Given the description of an element on the screen output the (x, y) to click on. 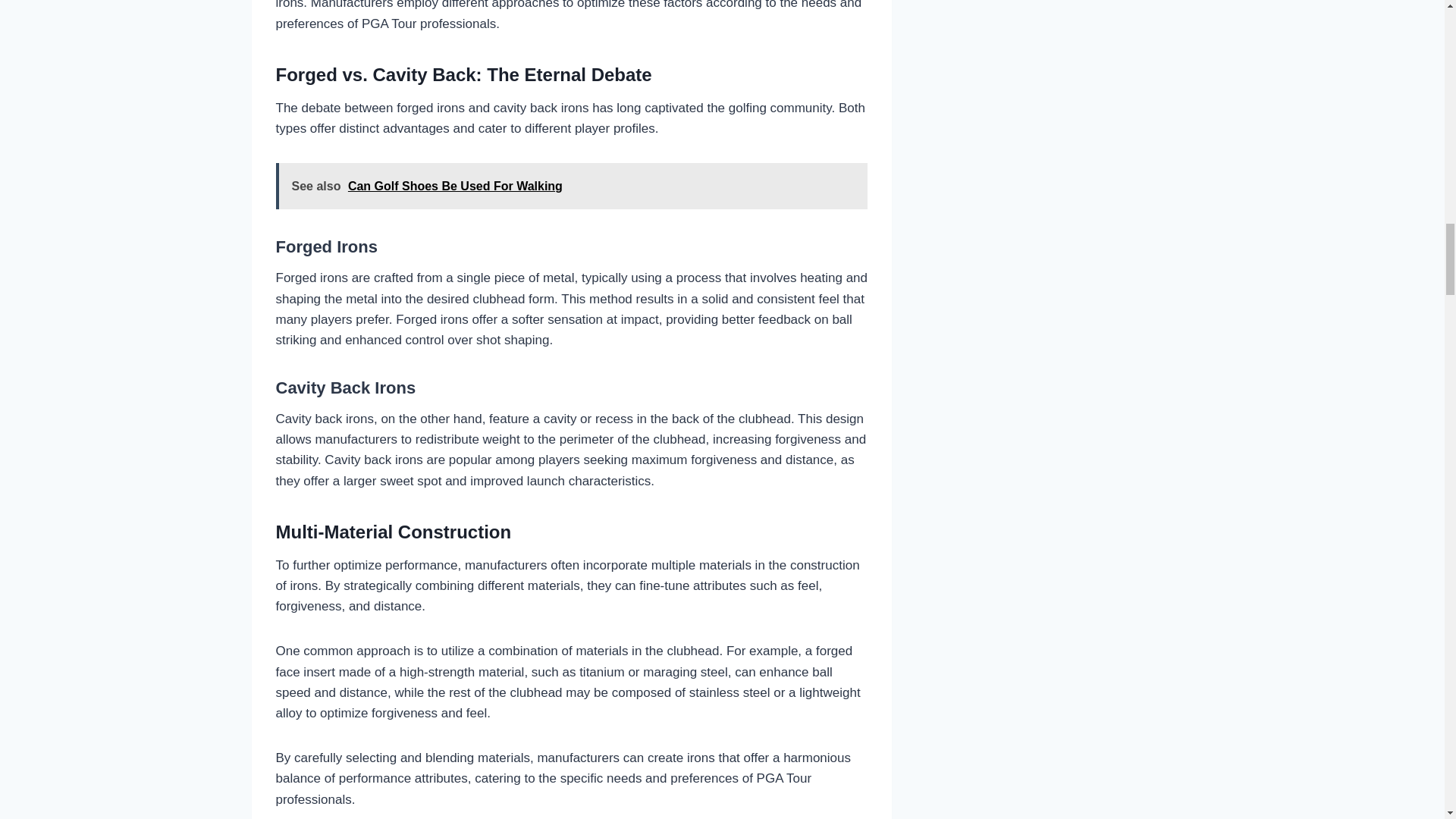
See also  Can Golf Shoes Be Used For Walking (571, 185)
